Given the description of an element on the screen output the (x, y) to click on. 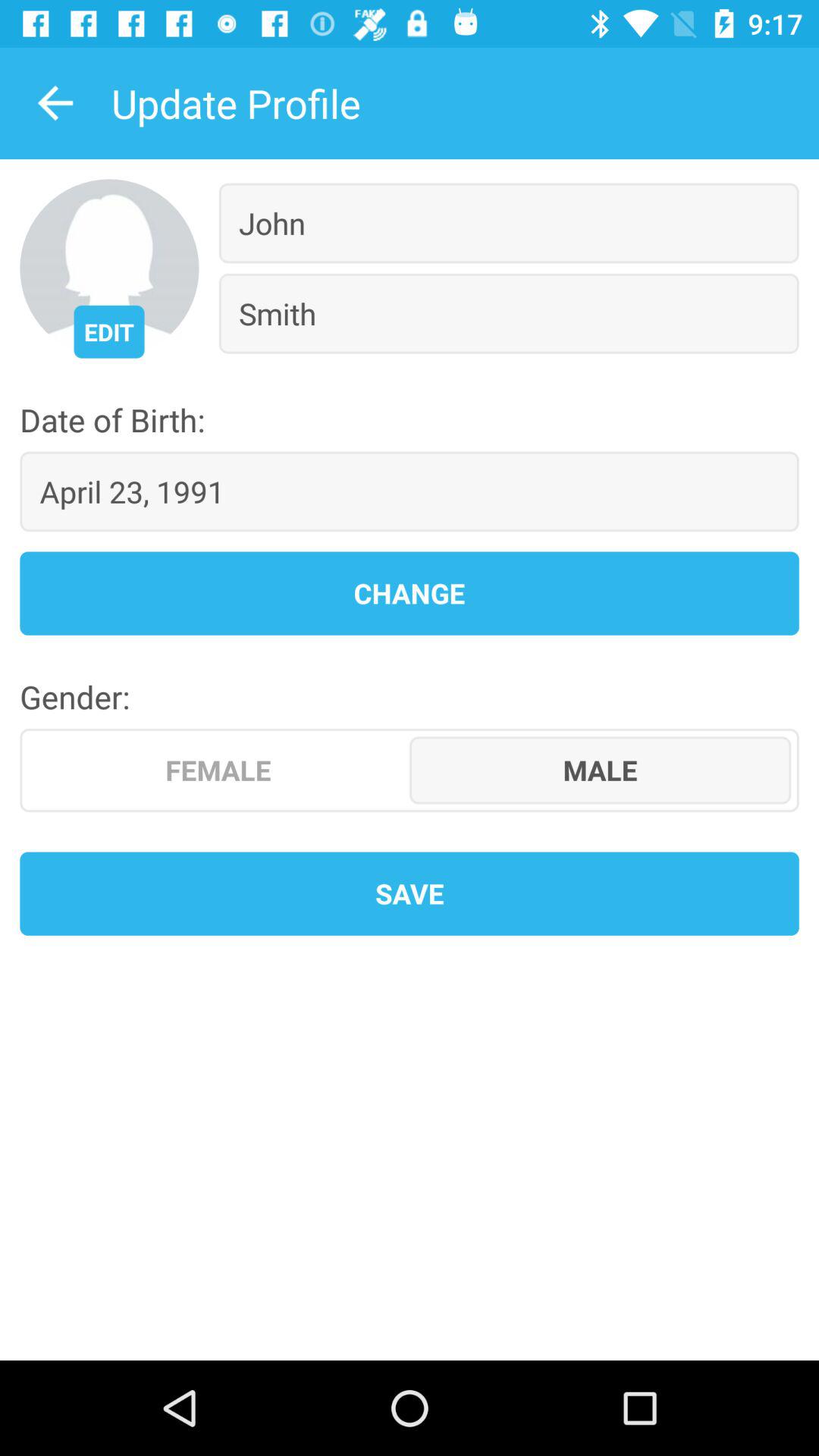
flip to the april 23, 1991 icon (409, 491)
